Given the description of an element on the screen output the (x, y) to click on. 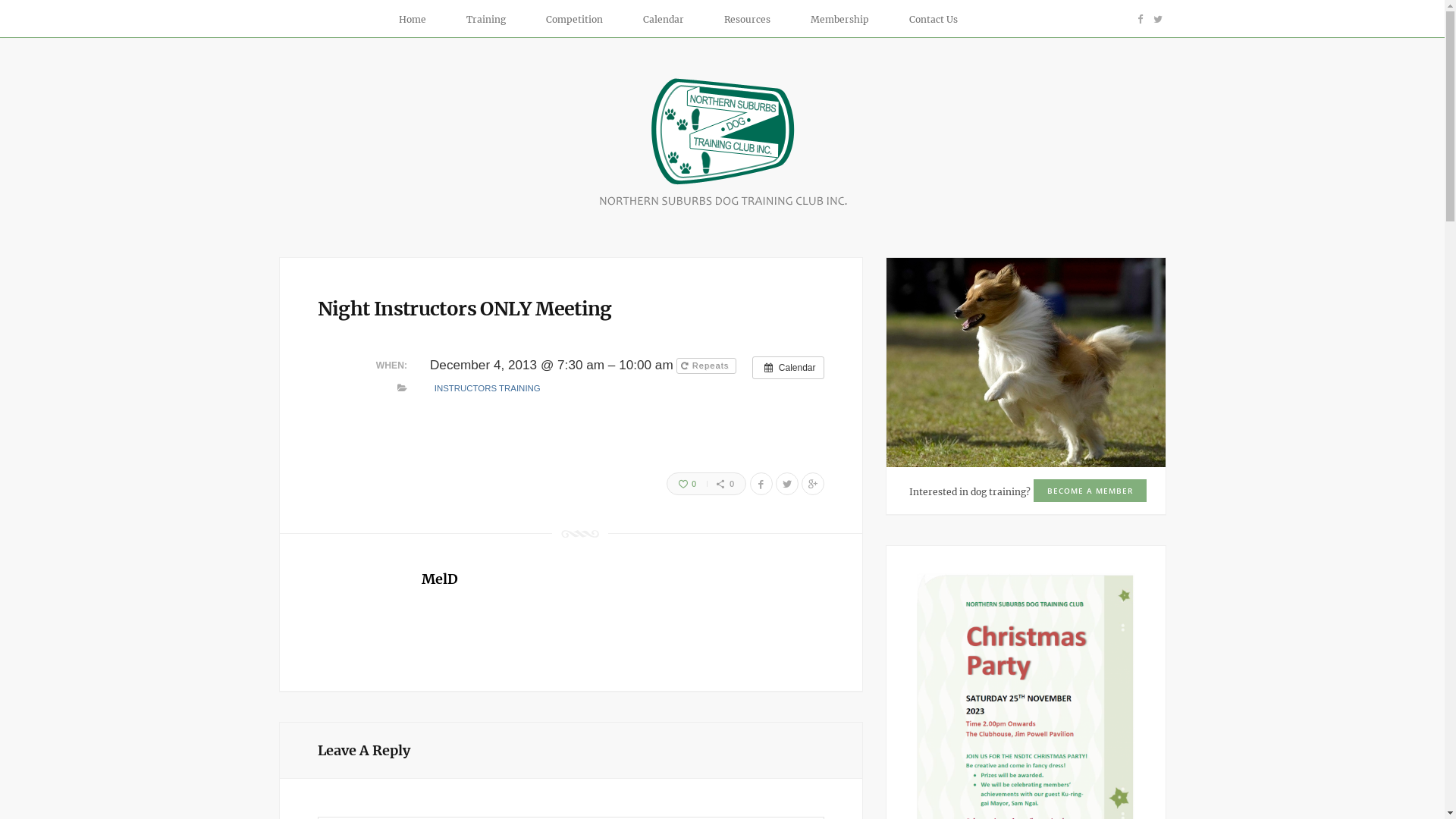
0 Element type: text (681, 483)
Facebook Element type: text (1138, 18)
Calendar Element type: text (668, 19)
Categories Element type: hover (402, 387)
Competition Element type: text (579, 19)
Northern Suburbs Dog Training Club (NSDTC) Element type: hover (722, 204)
INSTRUCTORS TRAINING Element type: text (486, 387)
Membership Element type: text (845, 19)
Calendar Element type: text (787, 367)
Repeats Element type: text (705, 365)
Resources Element type: text (753, 19)
Training Element type: text (491, 19)
Contact Us Element type: text (933, 19)
BECOME A MEMBER Element type: text (1088, 490)
Home Element type: text (417, 19)
MelD Element type: text (439, 578)
Twitter Element type: text (1157, 18)
